Given the description of an element on the screen output the (x, y) to click on. 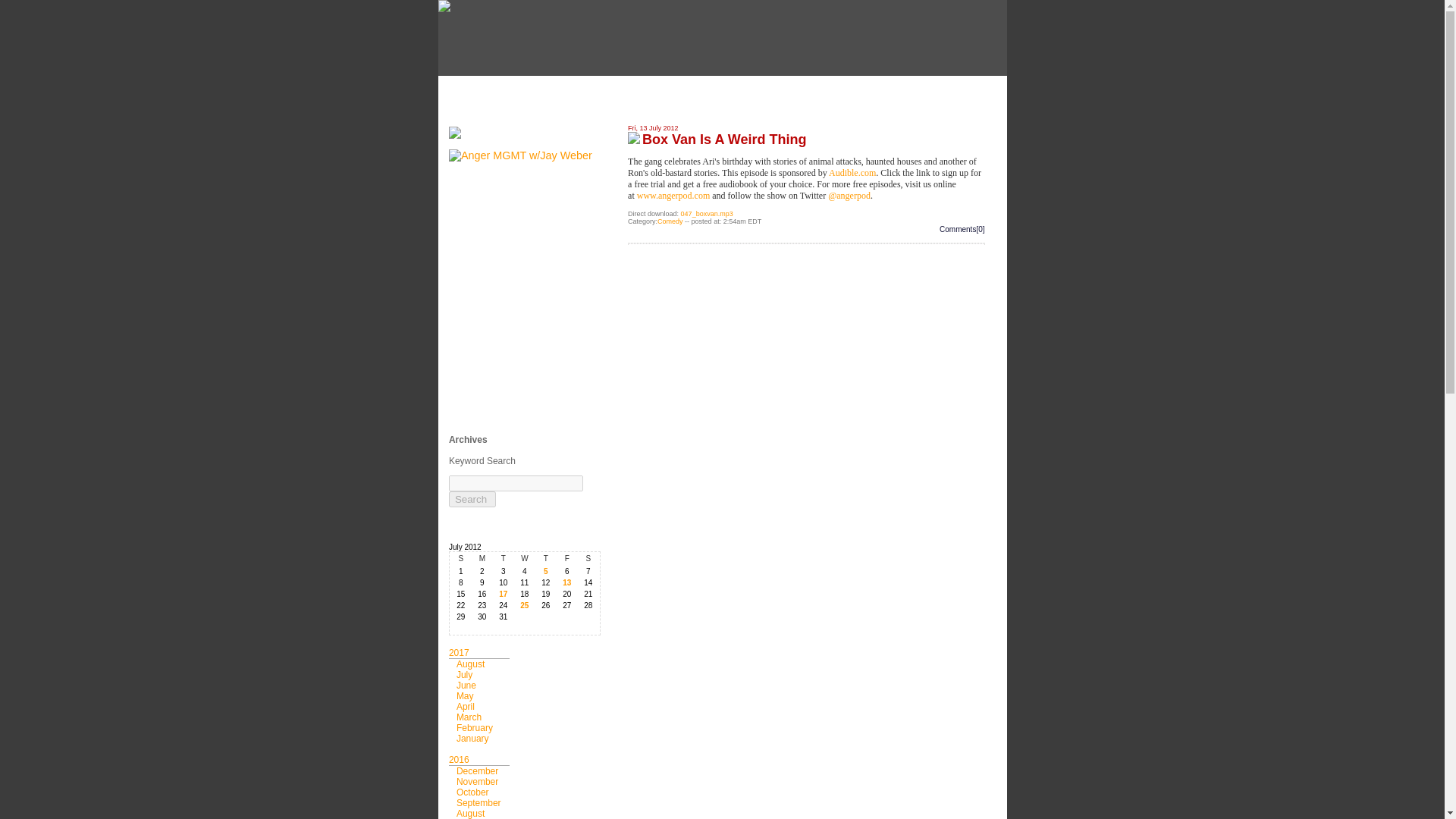
January (473, 738)
Wednesday (524, 558)
2017 (458, 652)
November (477, 781)
August (470, 813)
2016 (458, 759)
May (465, 696)
Sunday (460, 558)
17 (503, 593)
July (464, 674)
Saturday (588, 558)
August (470, 664)
Tuesday (503, 558)
Thursday (545, 558)
25 (524, 605)
